Given the description of an element on the screen output the (x, y) to click on. 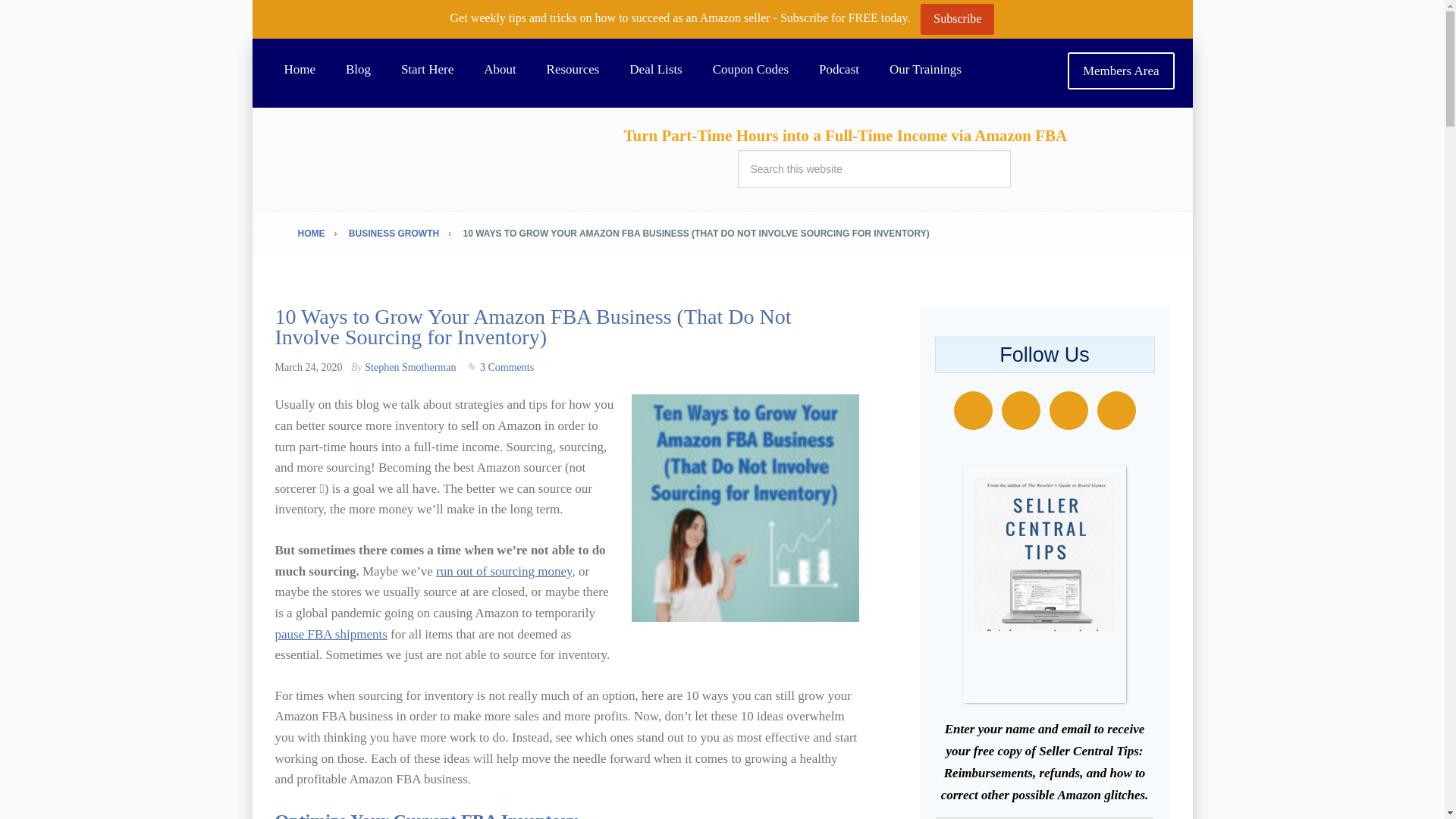
Coupon Codes (750, 69)
Podcast (838, 69)
BUSINESS GROWTH (404, 233)
Turn part-time hours into a full-time income via Amazon FBA (299, 69)
Our Trainings (925, 69)
HOME (321, 233)
Members Area (1120, 71)
Resources (572, 69)
Home (299, 69)
